Given the description of an element on the screen output the (x, y) to click on. 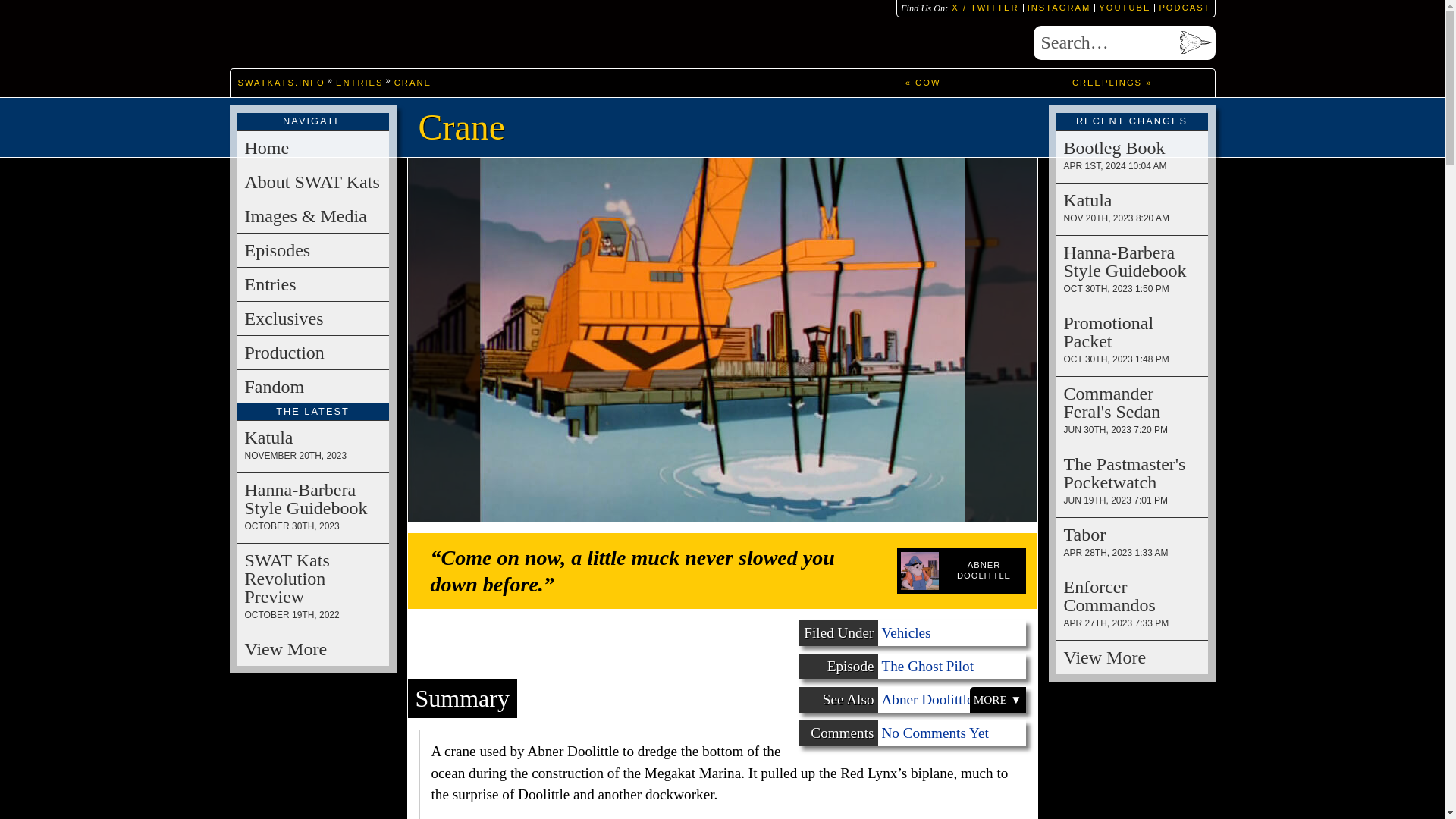
Podcast (1181, 8)
Instagram (1056, 8)
YouTube (1122, 8)
